Given the description of an element on the screen output the (x, y) to click on. 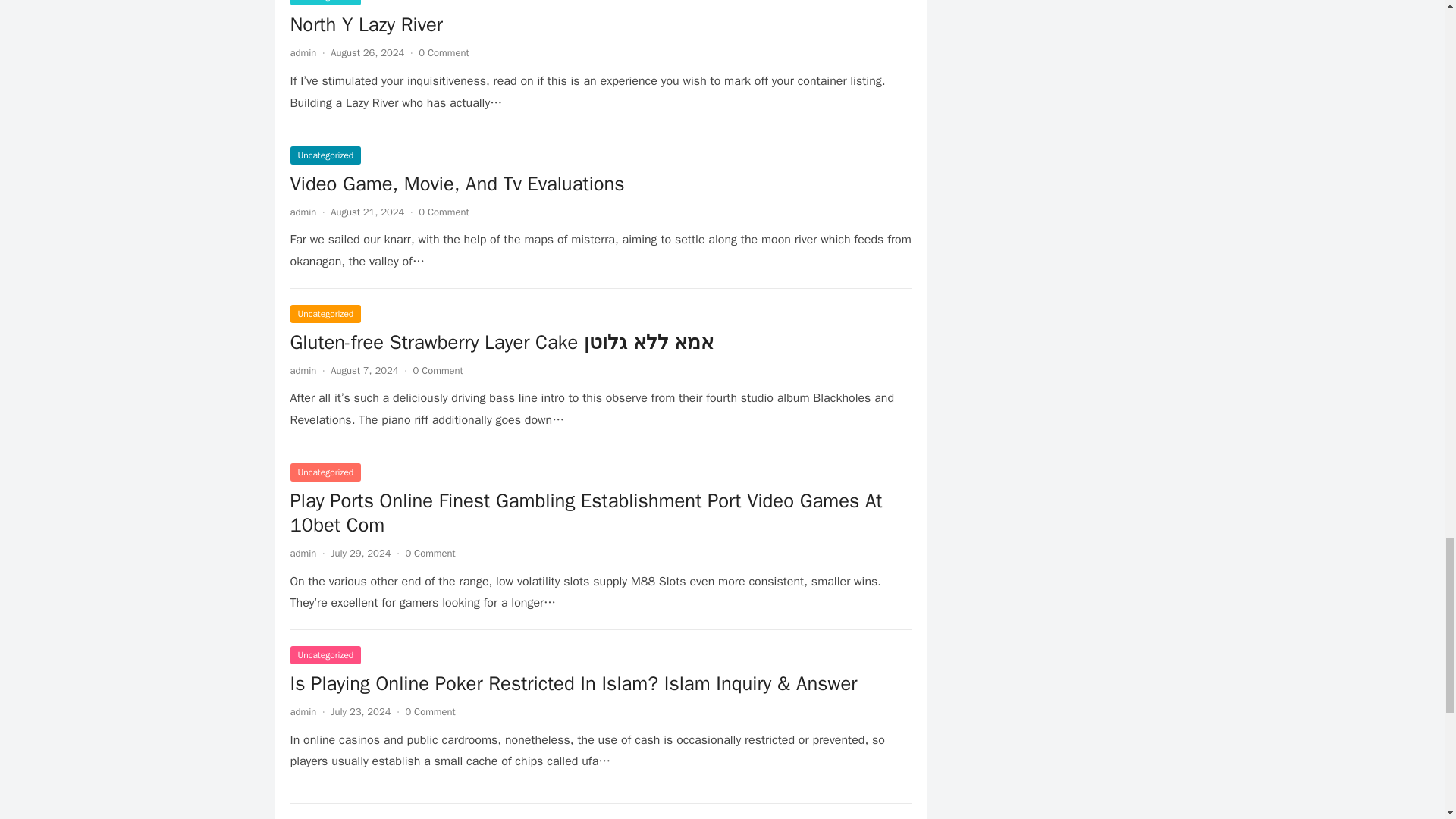
admin (302, 51)
Uncategorized (325, 2)
Uncategorized (325, 472)
admin (302, 711)
Posts by admin (302, 51)
Posts by admin (302, 711)
0 Comment (429, 553)
Uncategorized (325, 155)
Posts by admin (302, 211)
